Given the description of an element on the screen output the (x, y) to click on. 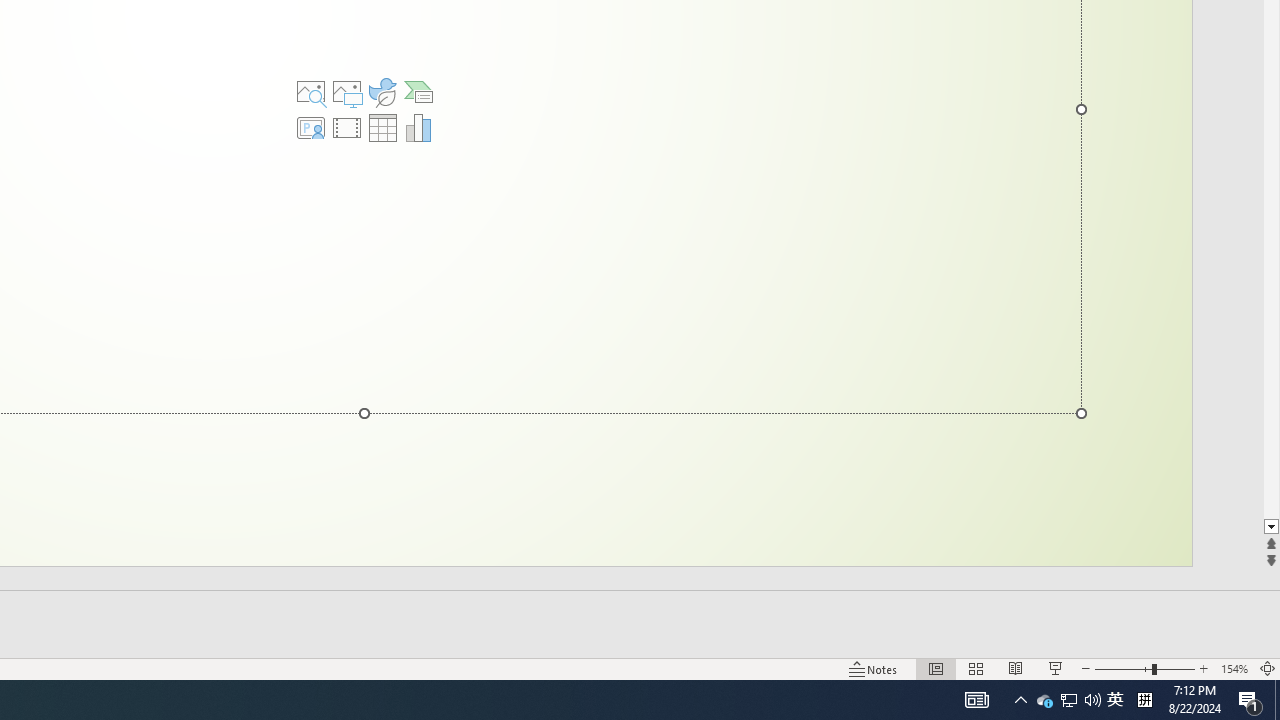
Zoom 154% (1234, 668)
